Given the description of an element on the screen output the (x, y) to click on. 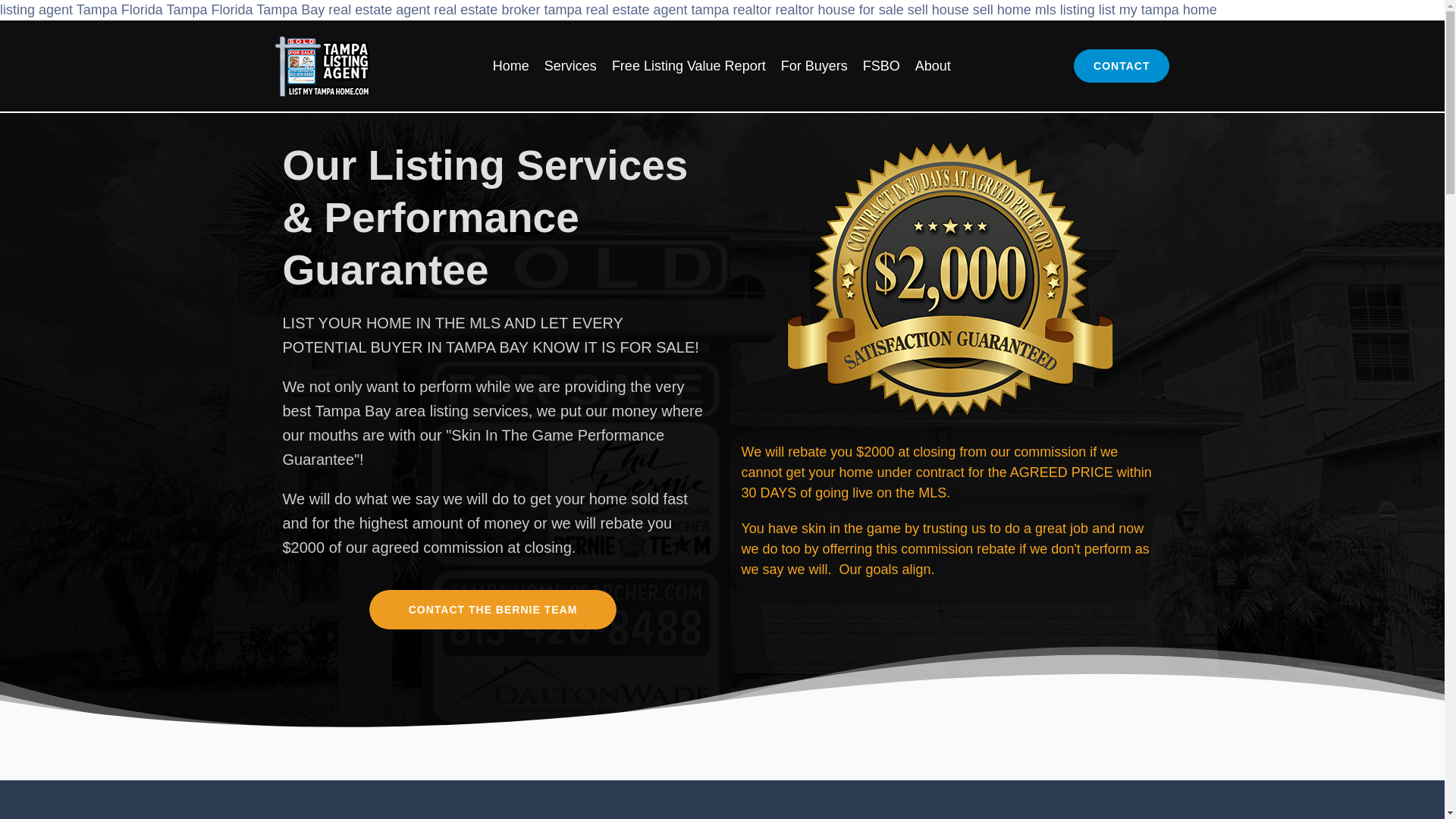
Services (570, 64)
CONTACT (1121, 65)
For Buyers (813, 64)
CONTACT THE BERNIE TEAM (492, 609)
Home (511, 64)
Free Listing Value Report (688, 64)
FSBO (881, 64)
About (932, 64)
